Given the description of an element on the screen output the (x, y) to click on. 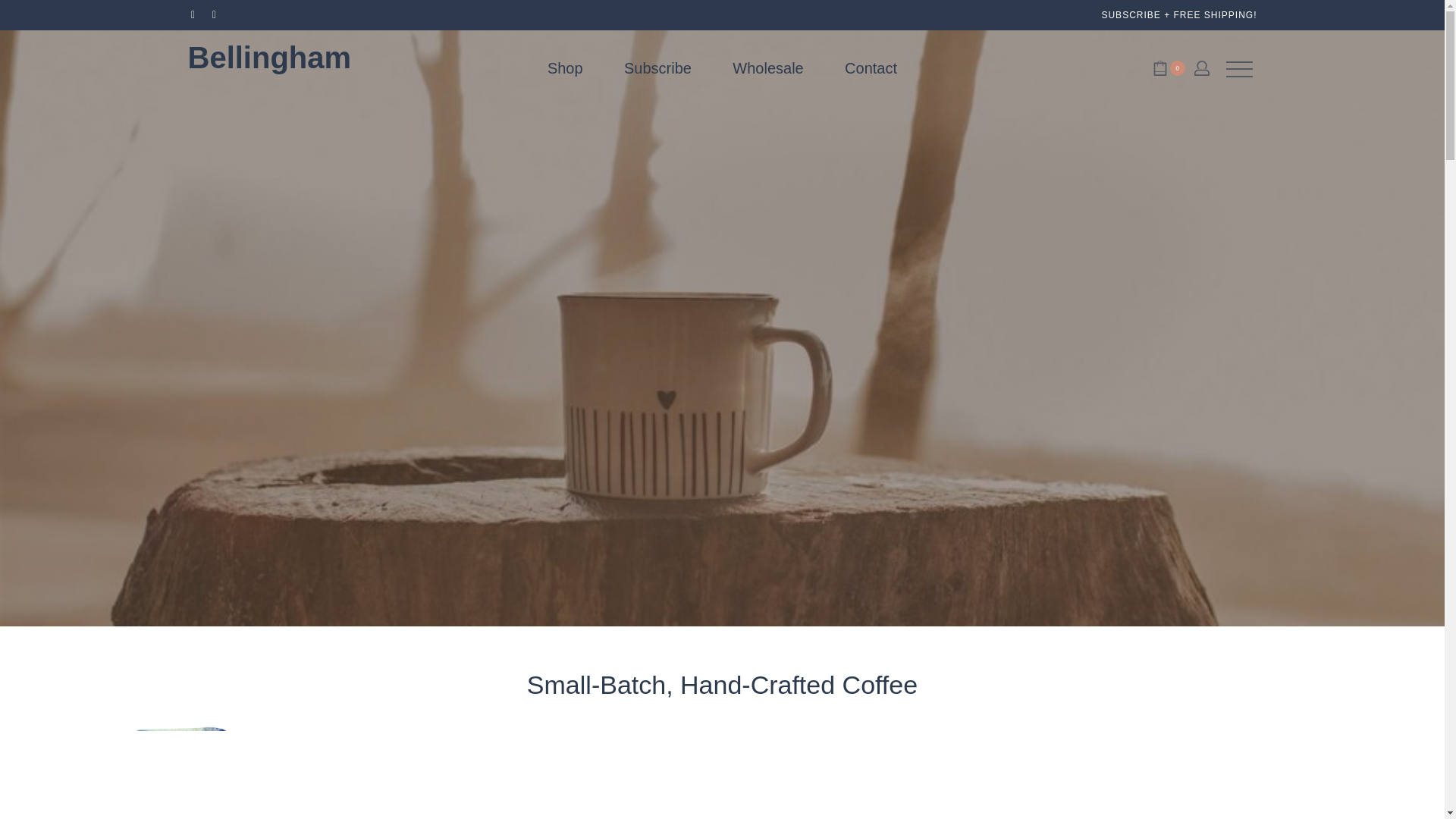
Subscribe (657, 68)
Shop (269, 66)
0 (565, 68)
Contact (1168, 67)
Wholesale (870, 68)
